Given the description of an element on the screen output the (x, y) to click on. 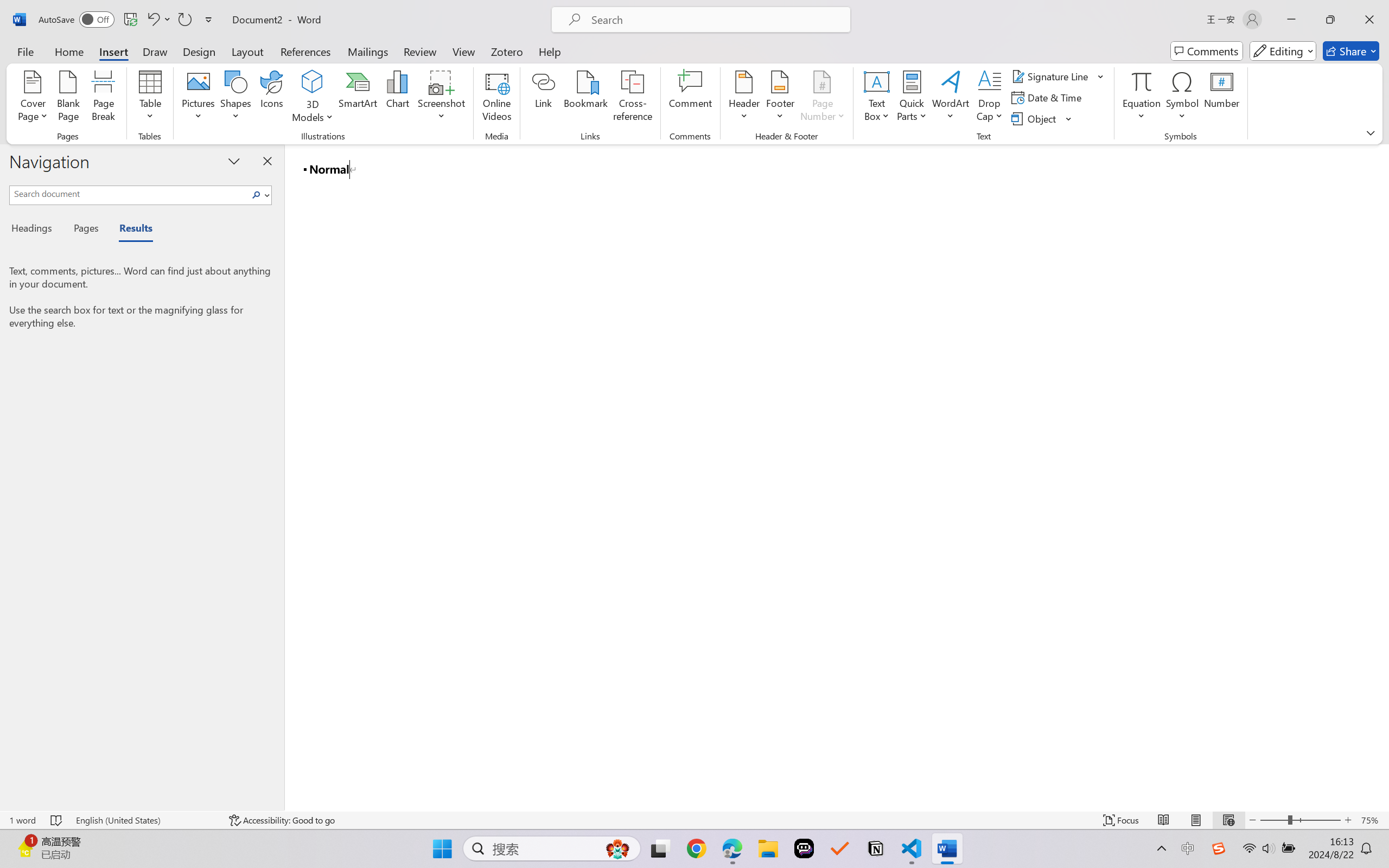
Class: MsoCommandBar (694, 819)
Customize Quick Access Toolbar (208, 19)
Results (130, 229)
Footer (780, 97)
Comments (1206, 50)
Layout (246, 51)
Undo <ApplyStyleToDoc>b__0 (158, 19)
Repeat Doc Close (184, 19)
Pictures (198, 97)
Symbol (1181, 97)
Online Videos... (496, 97)
Object... (1042, 118)
